Given the description of an element on the screen output the (x, y) to click on. 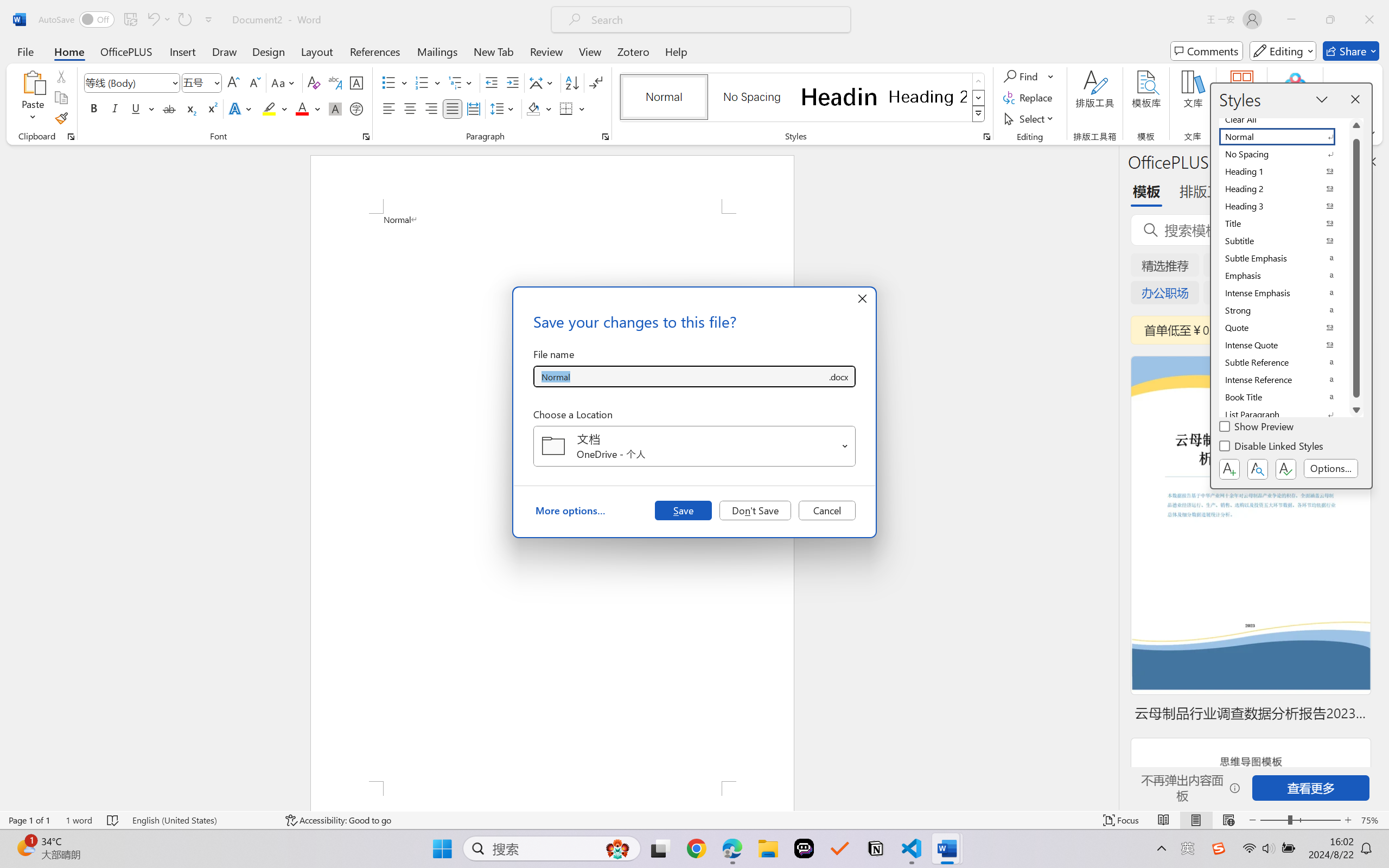
Shrink Font (253, 82)
Sort... (571, 82)
Copy (60, 97)
Review (546, 51)
Styles... (986, 136)
Decrease Indent (491, 82)
Bullets (388, 82)
Task Pane Options (1338, 161)
Disable Linked Styles (1272, 447)
Text Highlight Color (274, 108)
Class: MsoCommandBar (694, 819)
